Given the description of an element on the screen output the (x, y) to click on. 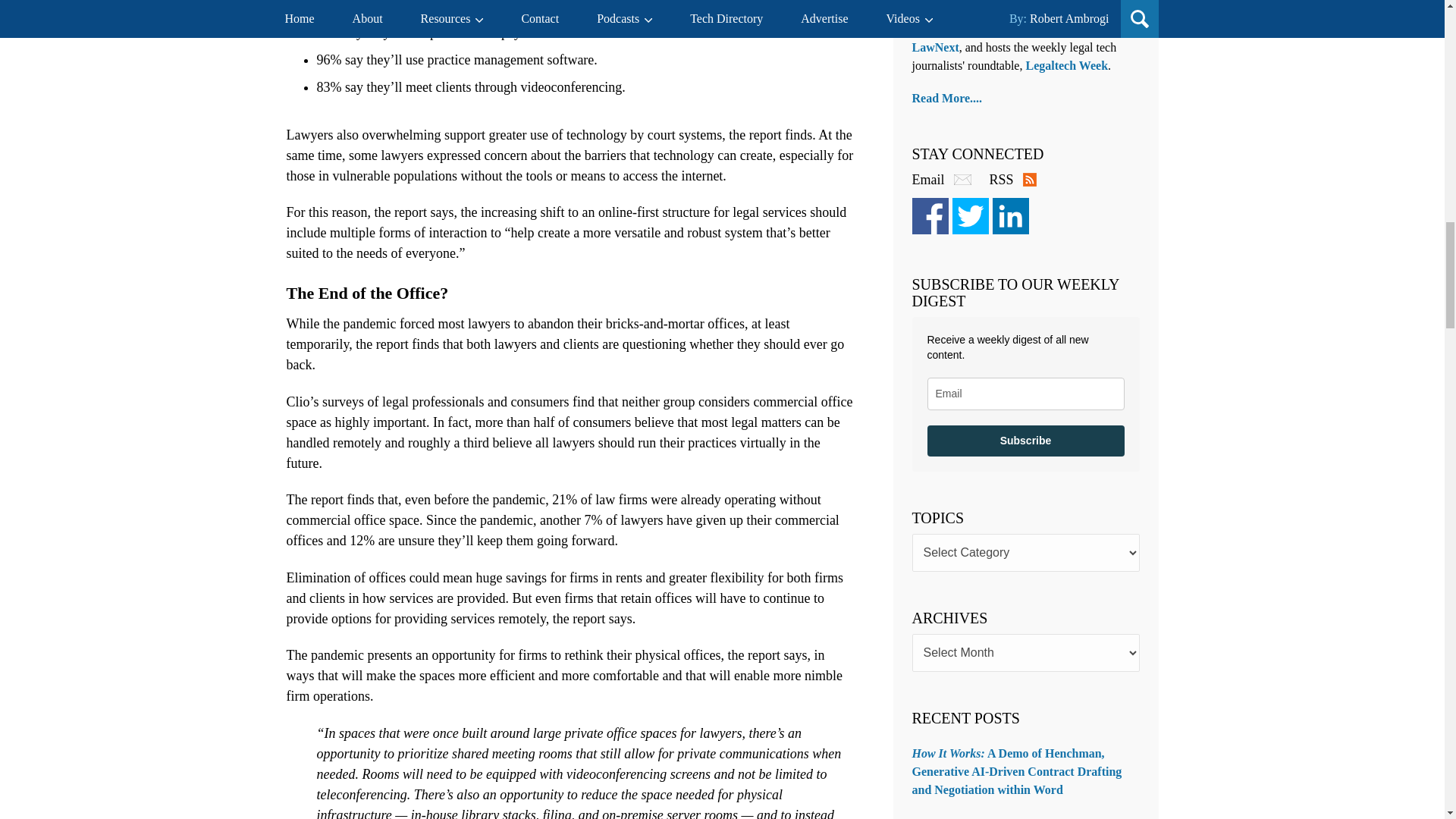
Facebook (929, 216)
LinkedIn (1009, 216)
Twitter (970, 216)
